Given the description of an element on the screen output the (x, y) to click on. 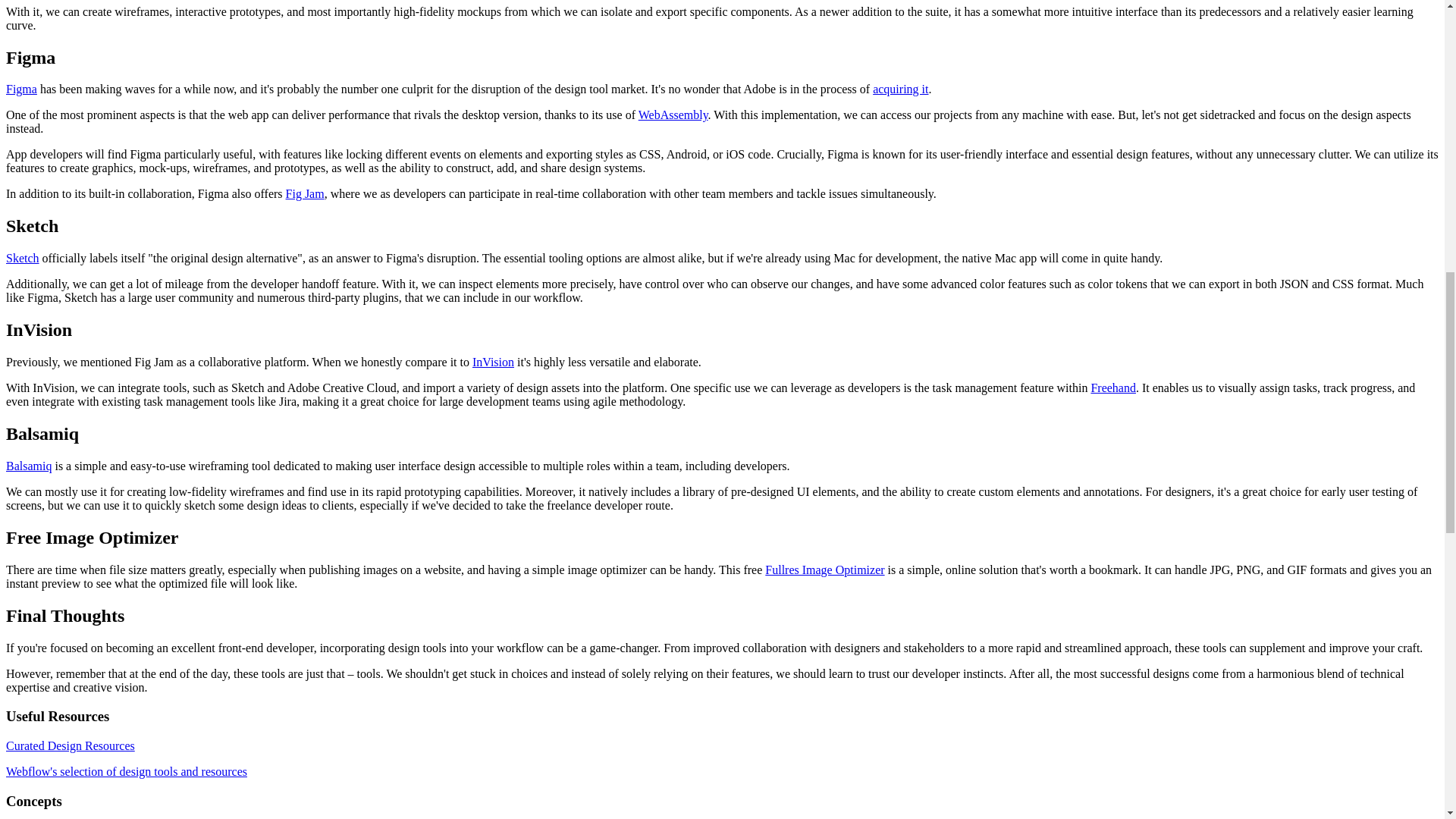
Figma (21, 88)
Fig Jam (304, 193)
Freehand (1112, 387)
Webflow's selection of design tools and resources (126, 771)
Balsamiq (27, 465)
Curated Design Resources (70, 745)
Sketch (22, 257)
WebAssembly (673, 114)
acquiring it (900, 88)
InVision (492, 361)
